Given the description of an element on the screen output the (x, y) to click on. 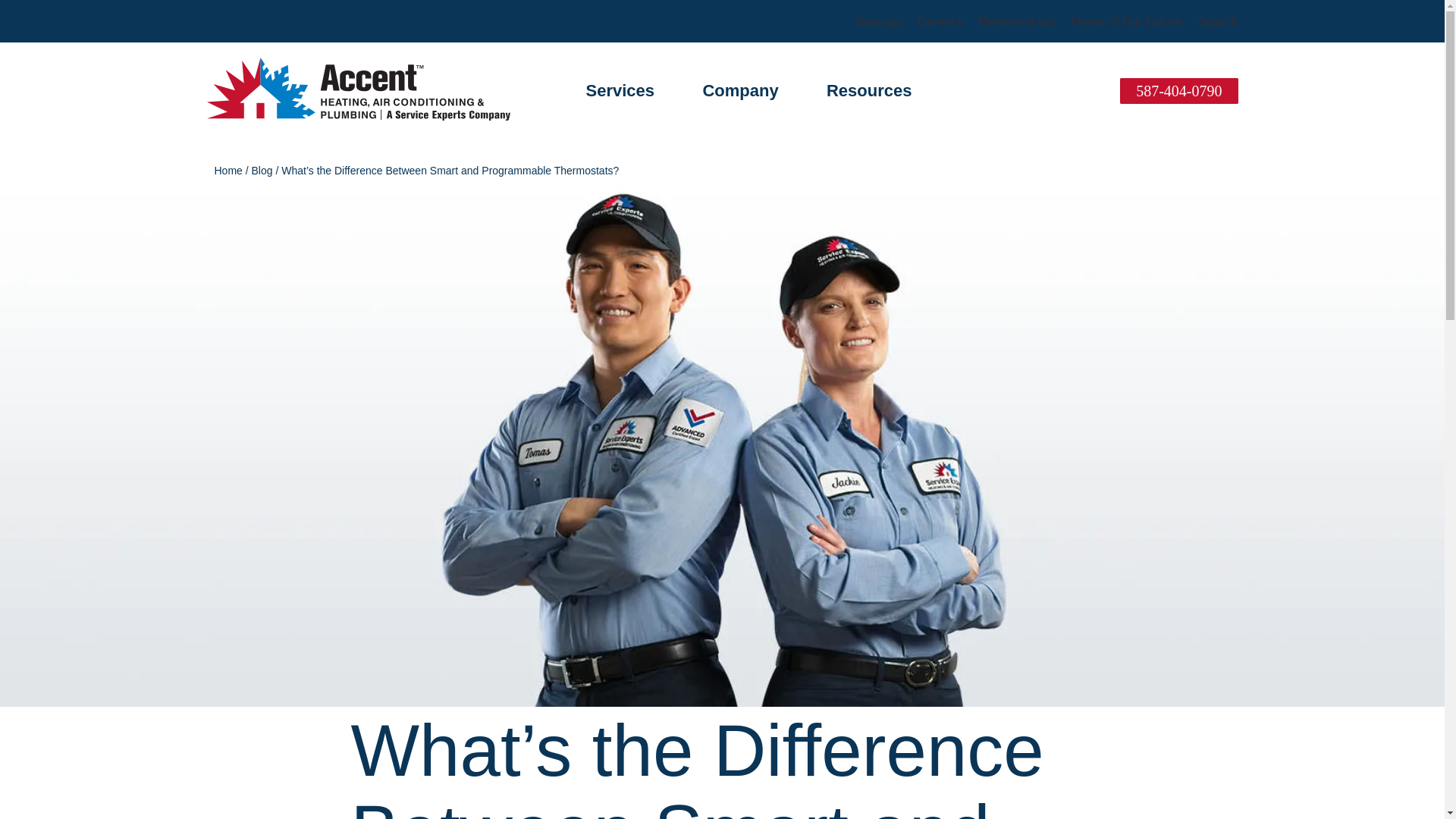
Home of the Future (1126, 21)
Company (739, 90)
Memberships (1015, 21)
587-404-0790 (1178, 90)
Careers (939, 21)
Resources (869, 90)
Services (619, 90)
Savings (878, 21)
Search (1216, 21)
